Given the description of an element on the screen output the (x, y) to click on. 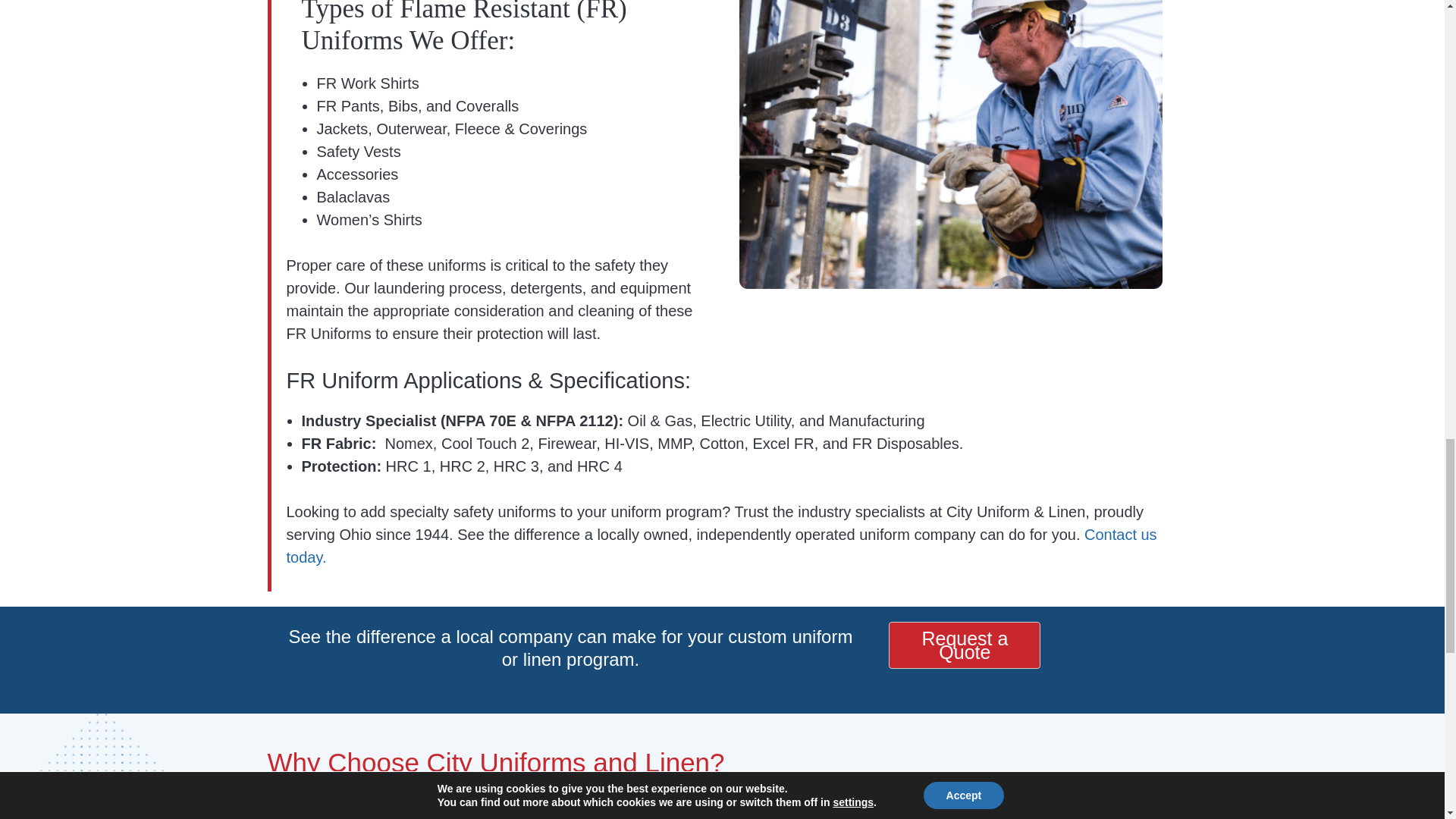
FR Garments (950, 144)
